Given the description of an element on the screen output the (x, y) to click on. 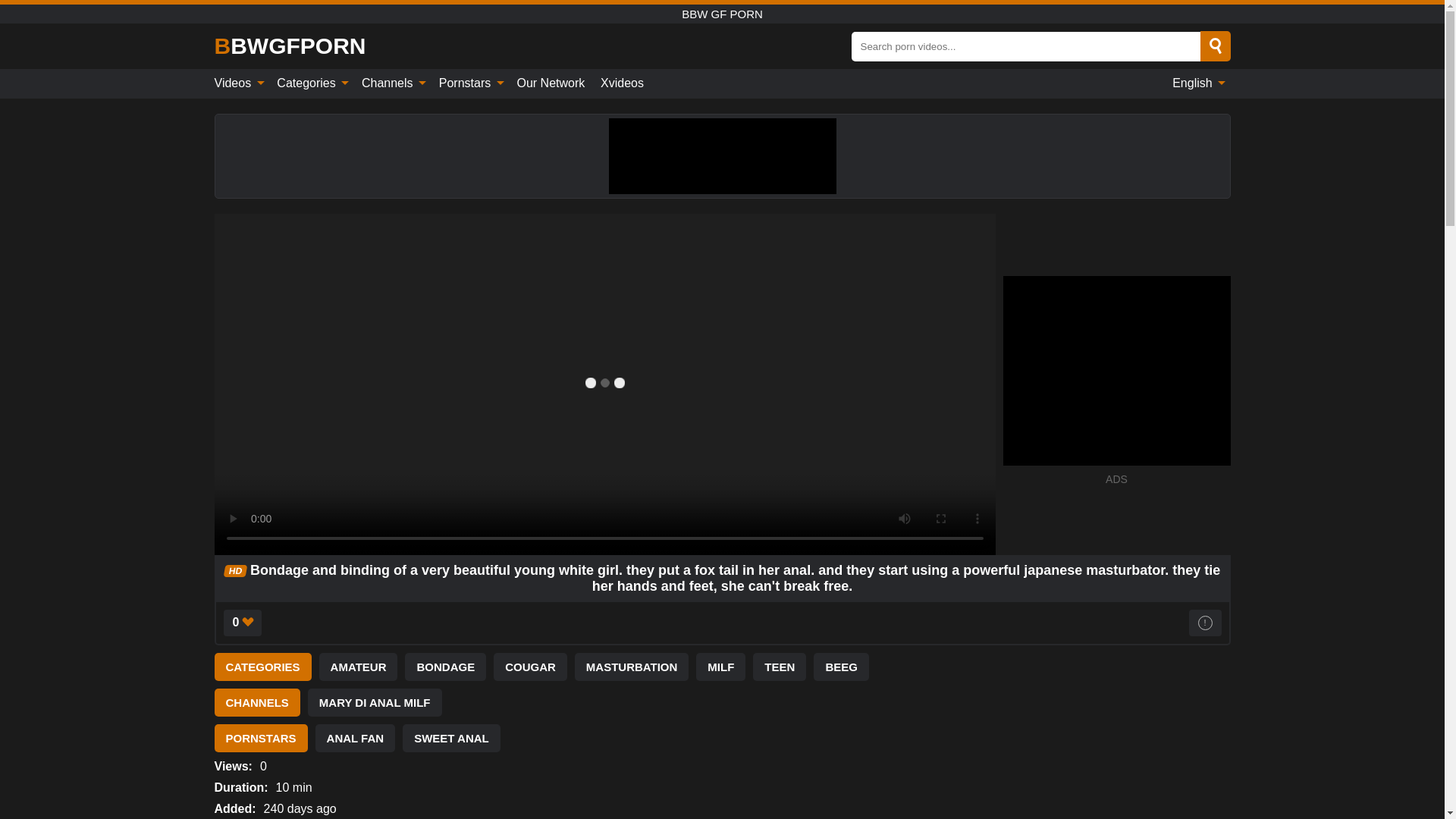
BBWGFPORN (289, 45)
Videos (240, 83)
Channels (391, 83)
Pornstars (469, 83)
Channels (391, 83)
Categories (311, 83)
Categories (311, 83)
Videos (240, 83)
Search (1214, 46)
BBW GF Porn (289, 45)
